Given the description of an element on the screen output the (x, y) to click on. 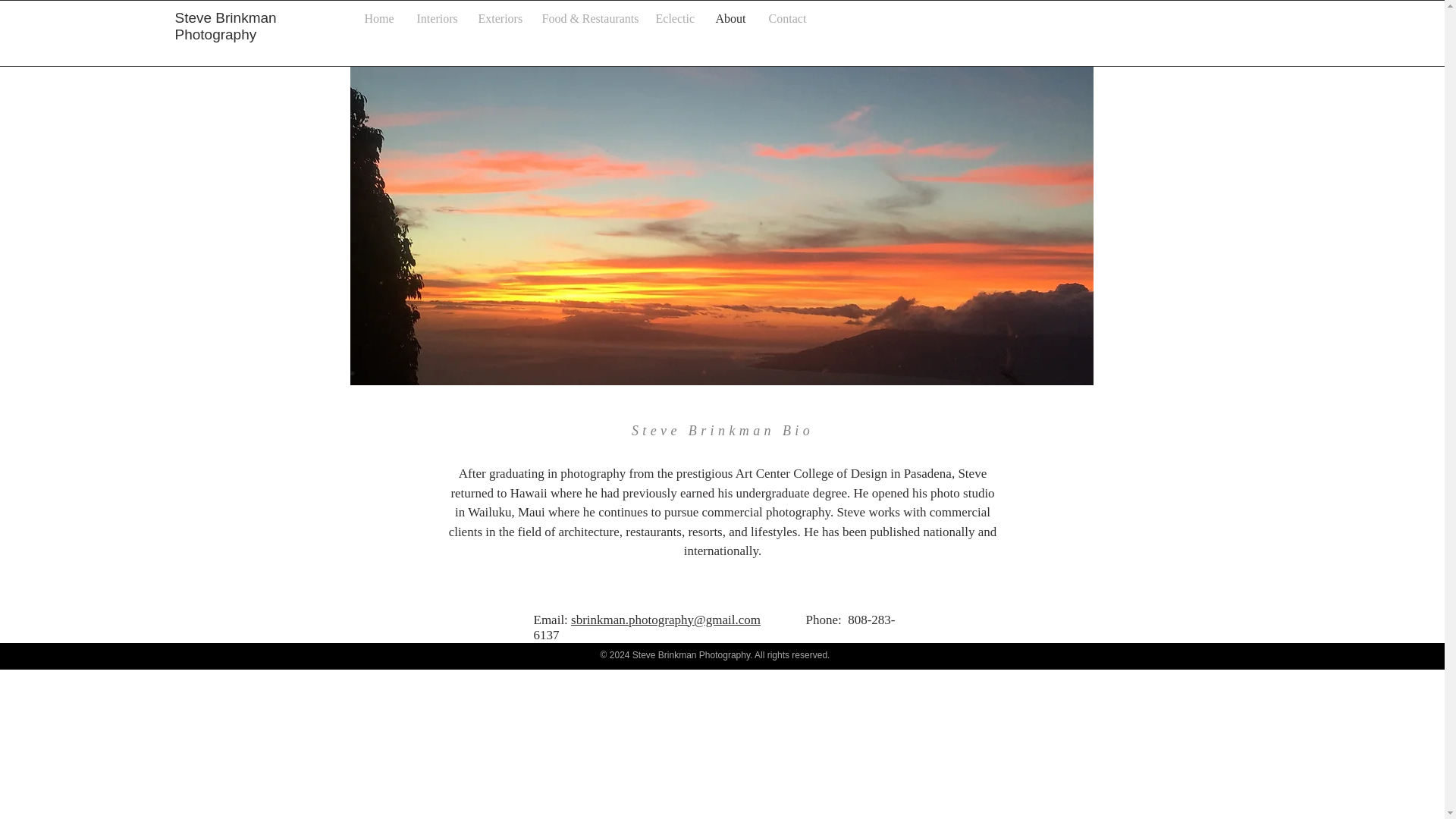
About (730, 18)
Home (379, 18)
Eclectic (674, 18)
Contact (786, 18)
Exteriors (499, 18)
Interiors (434, 18)
